Given the description of an element on the screen output the (x, y) to click on. 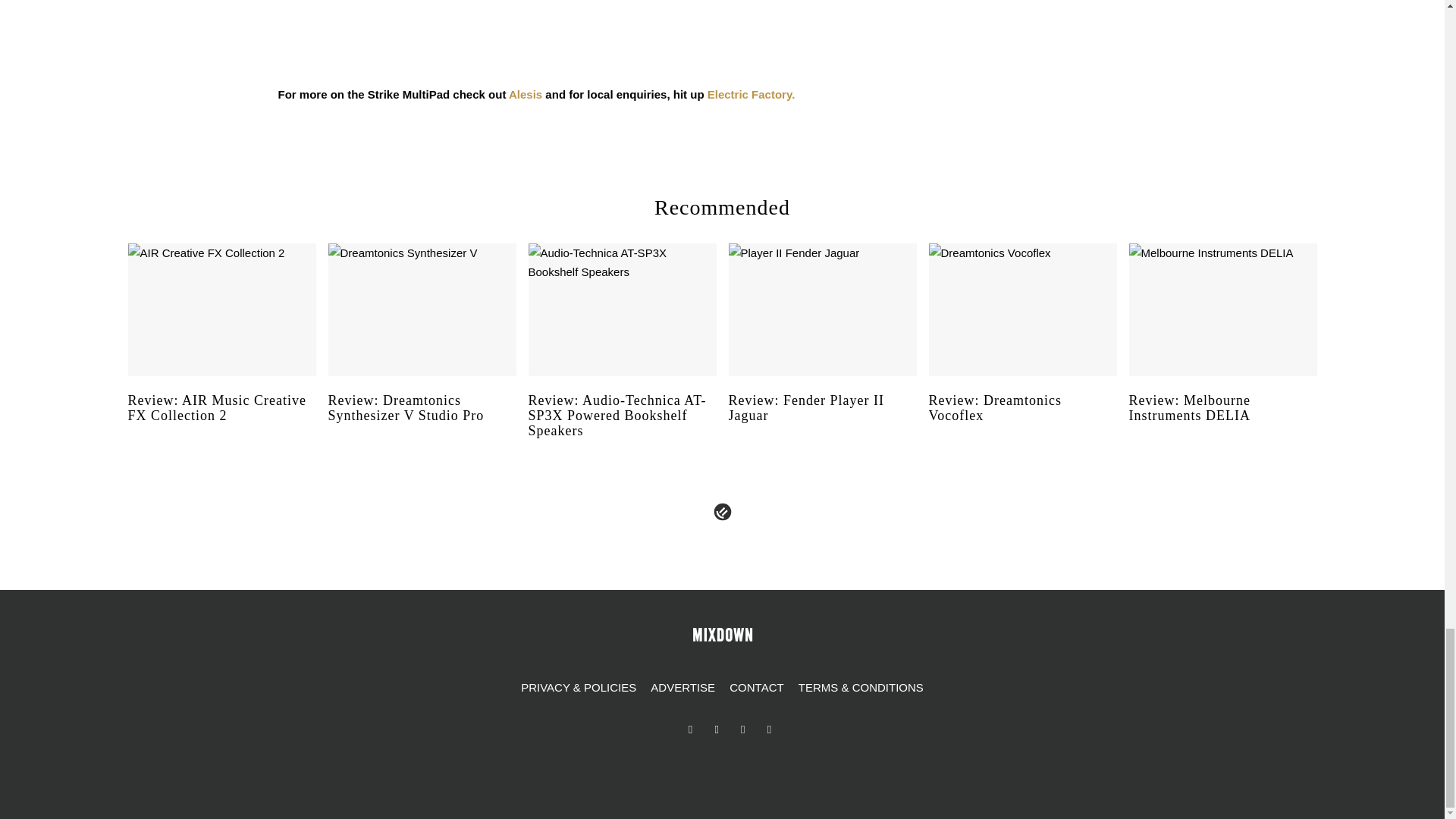
Electric Factory. (750, 93)
Review: Melbourne Instruments DELIA (1222, 422)
Review: Dreamtonics Synthesizer V Studio Pro (421, 422)
YouTube video player (489, 28)
Review: AIR Music Creative FX Collection 2 (221, 422)
Review: Dreamtonics Vocoflex (1022, 422)
Alesis (524, 93)
Review: Audio-Technica AT-SP3X Powered Bookshelf Speakers (621, 429)
Review: Fender Player II Jaguar (821, 422)
